Given the description of an element on the screen output the (x, y) to click on. 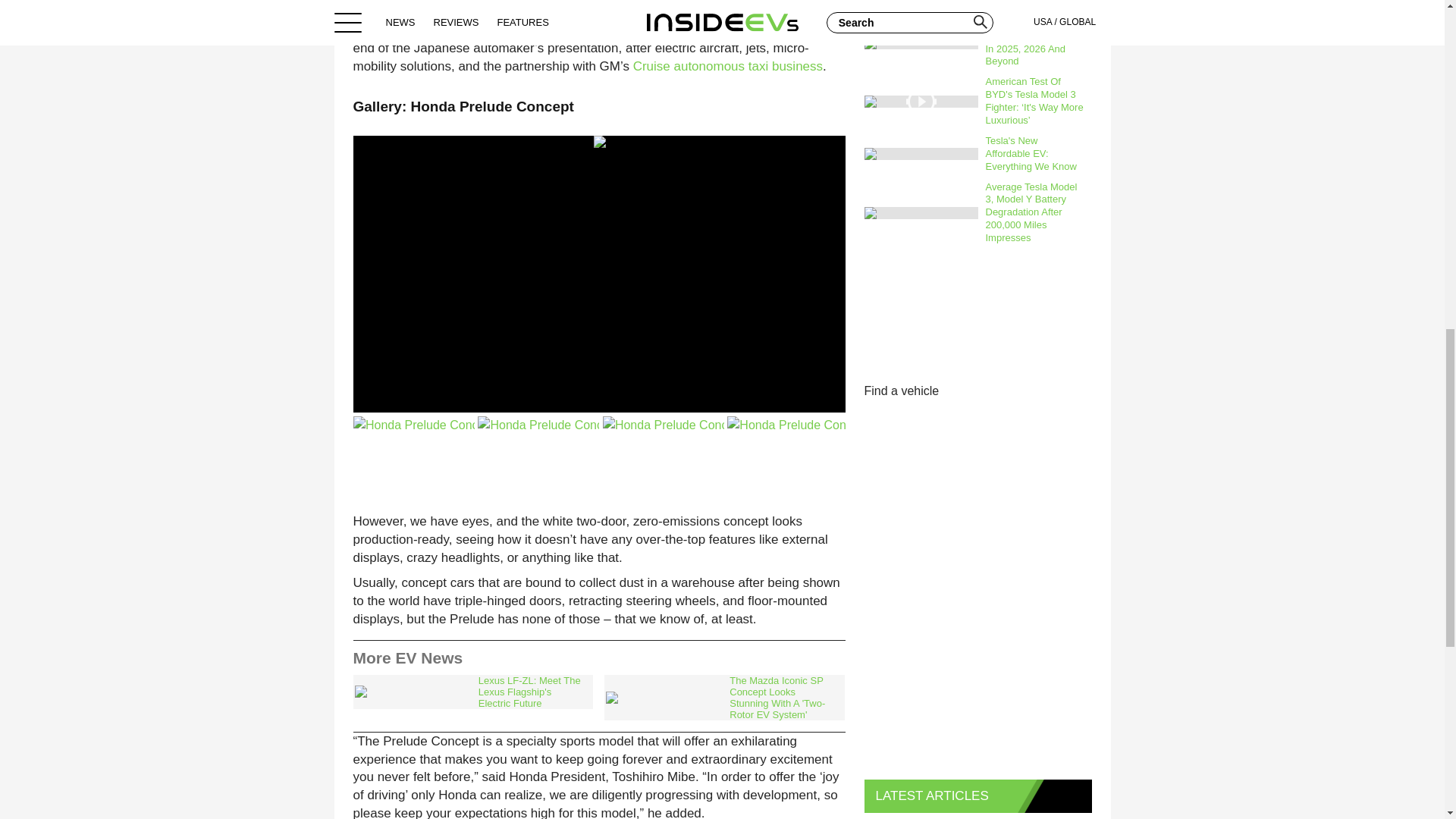
Lexus LF-ZL: Meet The Lexus Flagship's Electric Future (473, 691)
Cruise autonomous taxi business (727, 65)
